Given the description of an element on the screen output the (x, y) to click on. 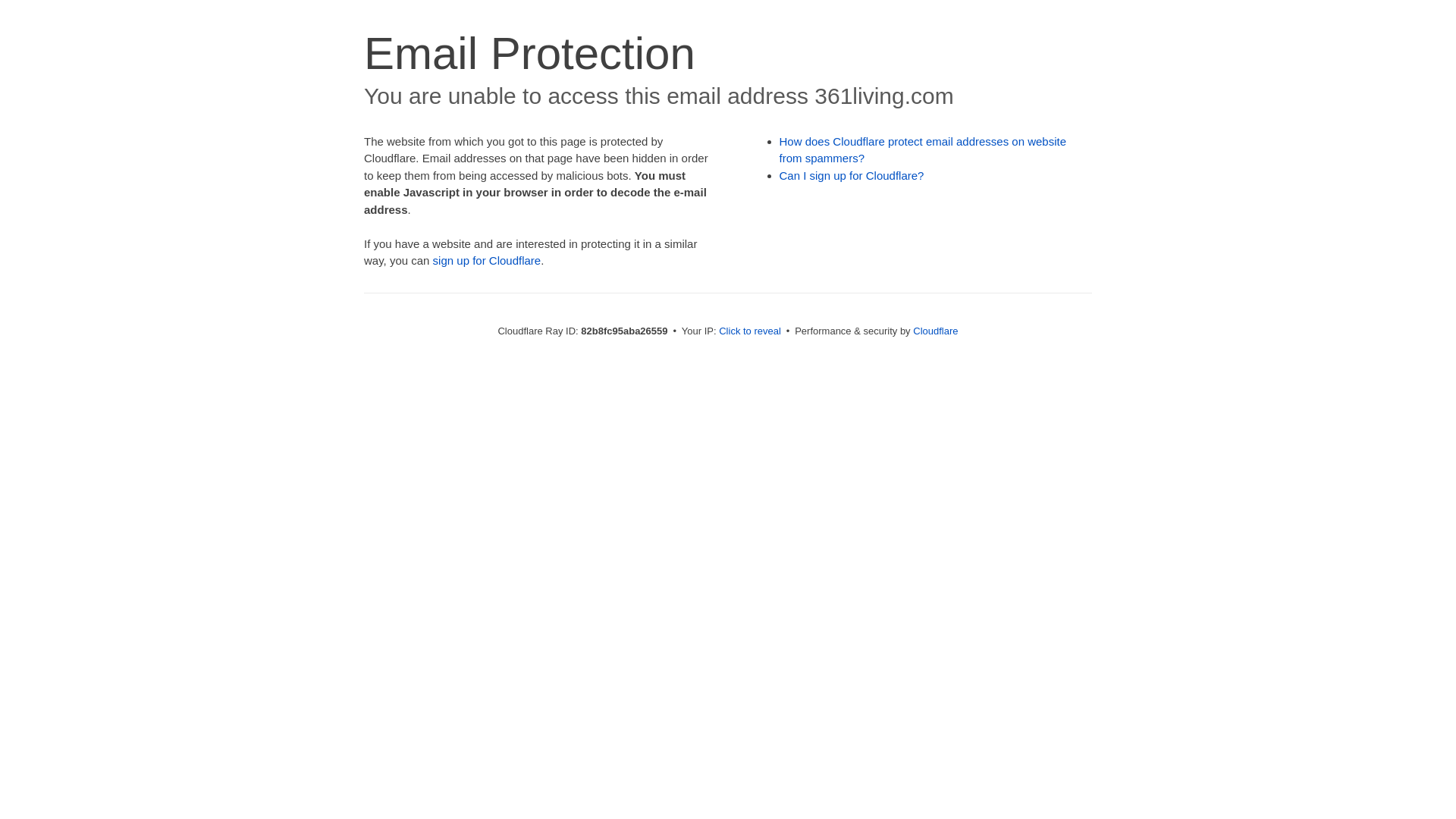
Can I sign up for Cloudflare? Element type: text (851, 175)
Cloudflare Element type: text (935, 330)
sign up for Cloudflare Element type: text (487, 260)
Click to reveal Element type: text (749, 330)
